Given the description of an element on the screen output the (x, y) to click on. 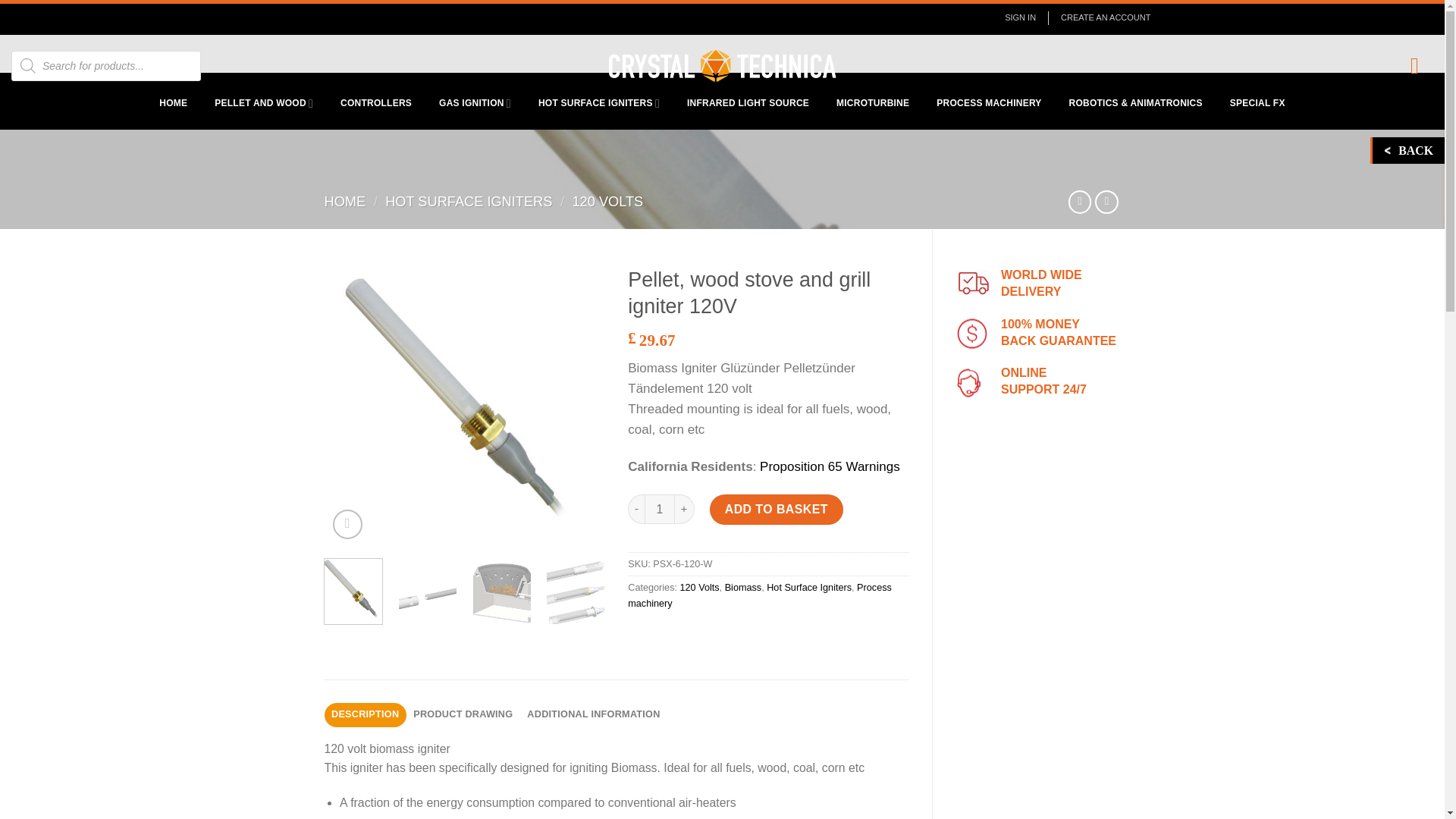
PELLET AND WOOD (263, 102)
HOME (172, 102)
Back (1408, 149)
SIGN IN (1019, 18)
HOME (345, 201)
CREATE AN ACCOUNT (1099, 18)
california proposition 65 (829, 466)
MICROTURBINE (872, 102)
INFRARED LIGHT SOURCE (747, 102)
GAS IGNITION (474, 102)
120 VOLTS (607, 201)
1 (660, 509)
HOT SURFACE IGNITERS (598, 102)
HOT SURFACE IGNITERS (468, 201)
